Given the description of an element on the screen output the (x, y) to click on. 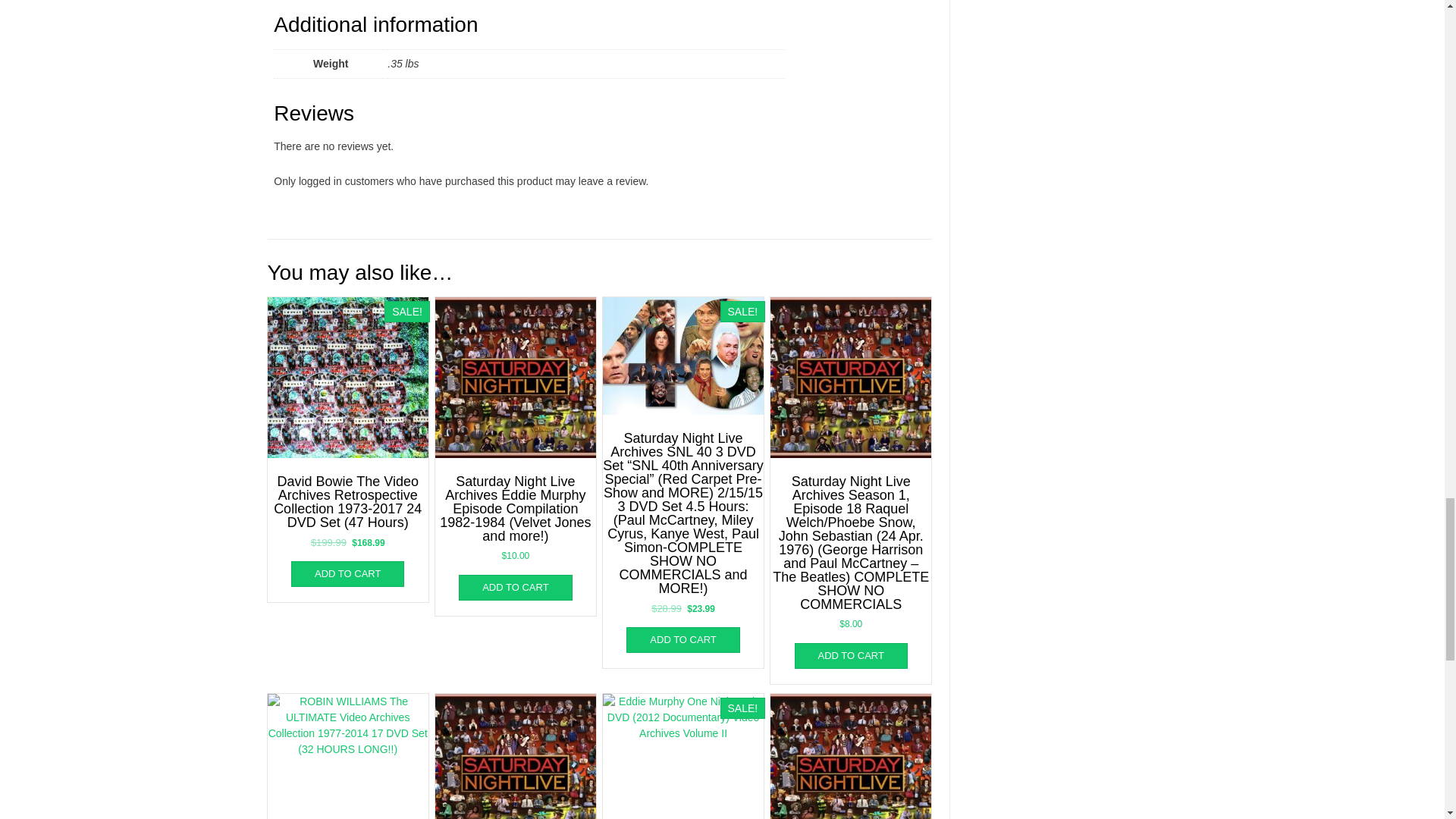
ADD TO CART (850, 655)
ADD TO CART (682, 639)
ADD TO CART (347, 574)
ADD TO CART (515, 587)
